Given the description of an element on the screen output the (x, y) to click on. 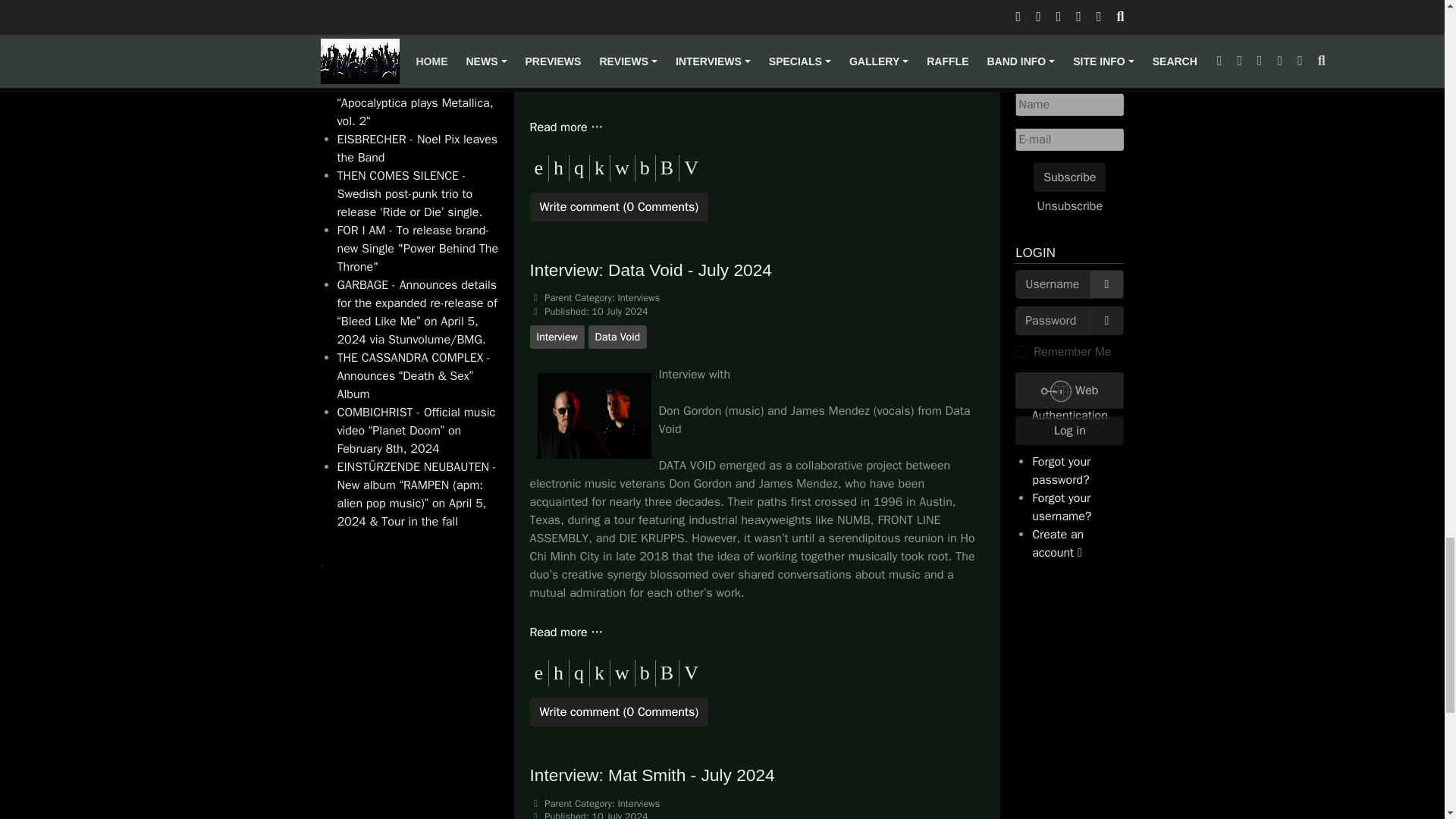
yes (1020, 351)
Name (1069, 103)
Subscribe (1069, 176)
E-mail (1069, 138)
Unsubscribe (1070, 205)
